Given the description of an element on the screen output the (x, y) to click on. 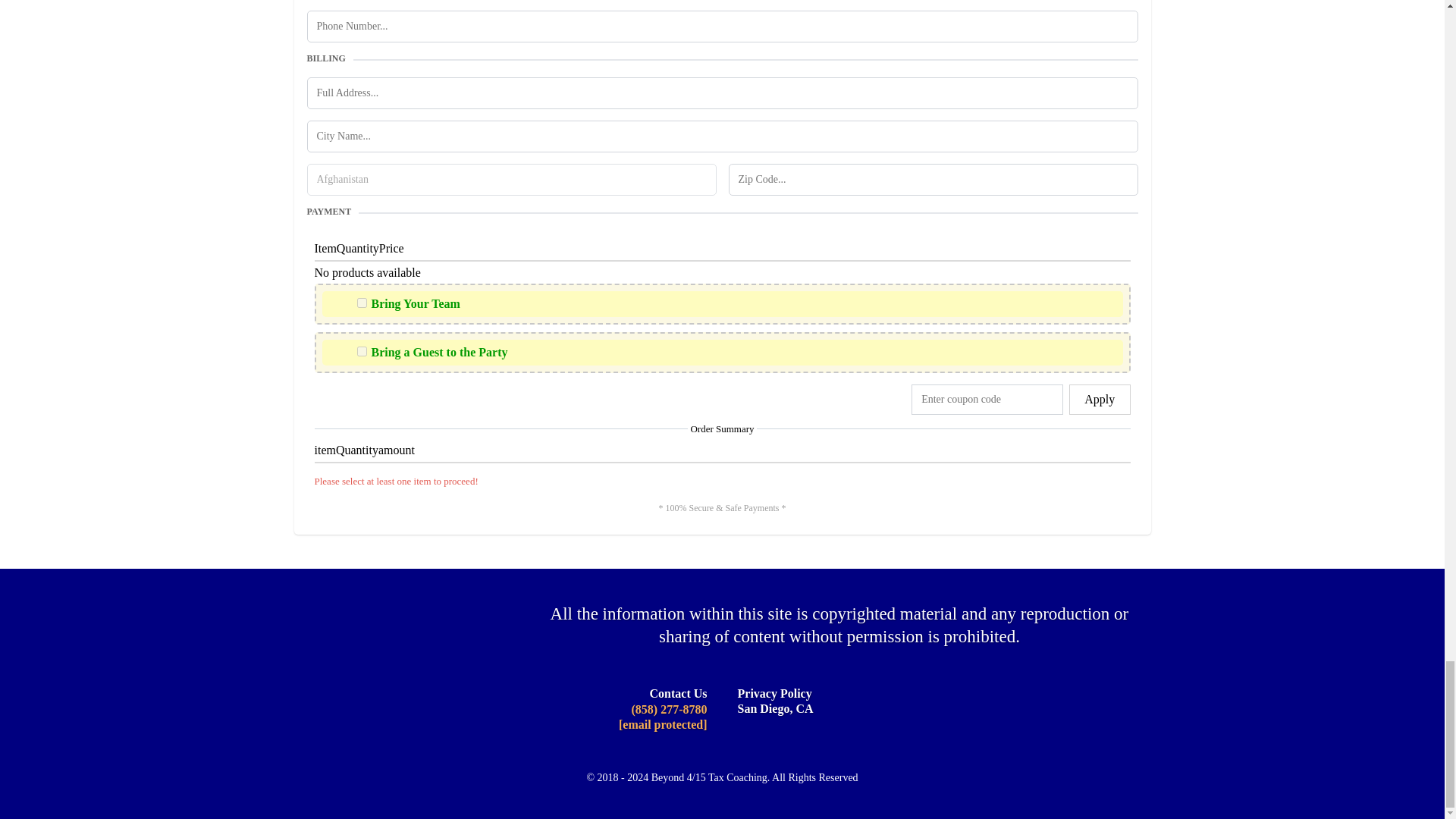
Apply (1098, 399)
on (361, 351)
on (361, 302)
